Given the description of an element on the screen output the (x, y) to click on. 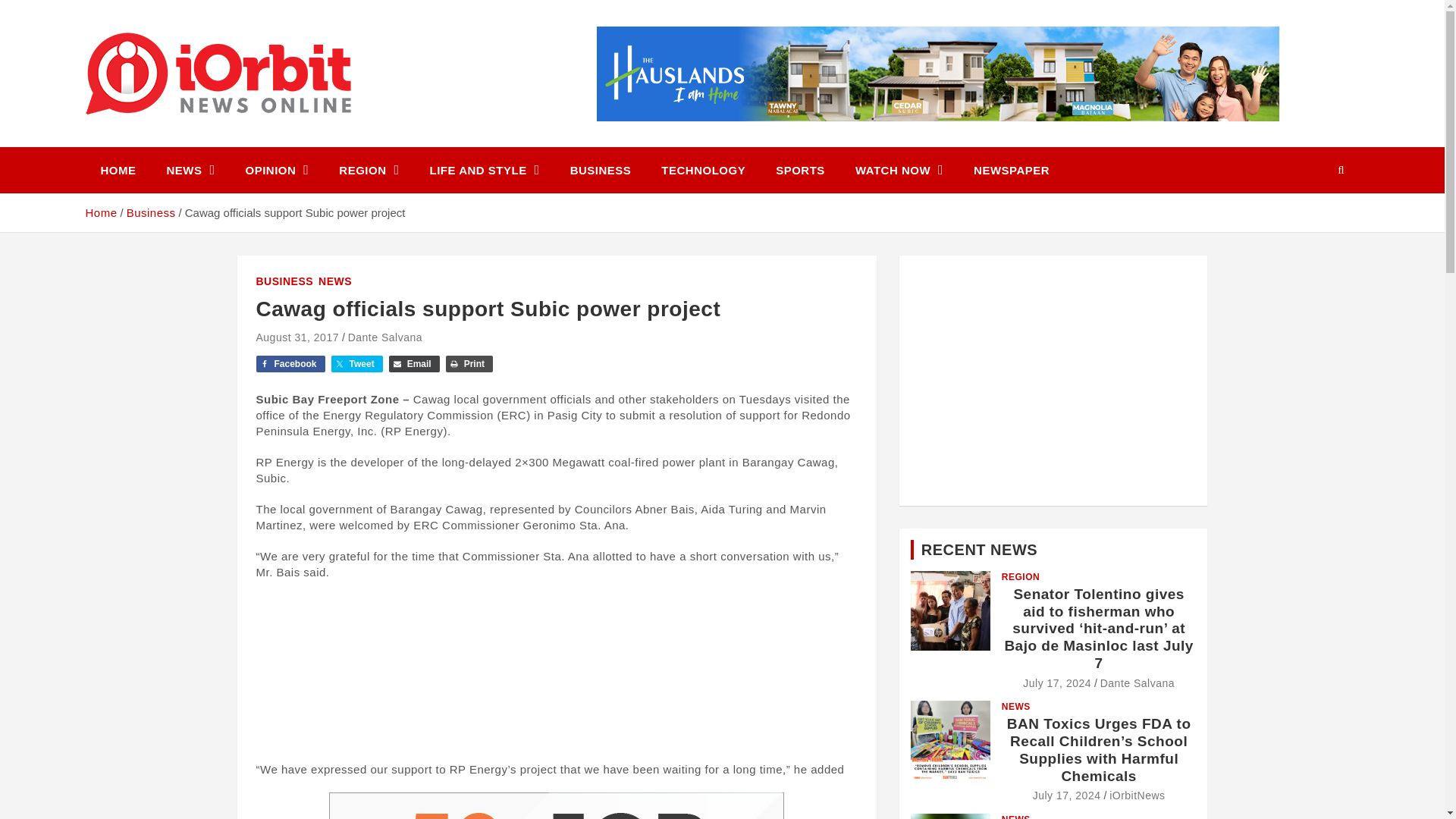
NEWS (190, 170)
Business (151, 212)
REGION (368, 170)
NEWSPAPER (1011, 170)
Cawag officials support Subic power project (297, 337)
iOrbit News Online (223, 143)
Share on Facebook (290, 363)
LIFE AND STYLE (484, 170)
Advertisement (556, 670)
TECHNOLOGY (703, 170)
HOME (117, 170)
Email (413, 363)
Home (100, 212)
SPORTS (800, 170)
BUSINESS (600, 170)
